Given the description of an element on the screen output the (x, y) to click on. 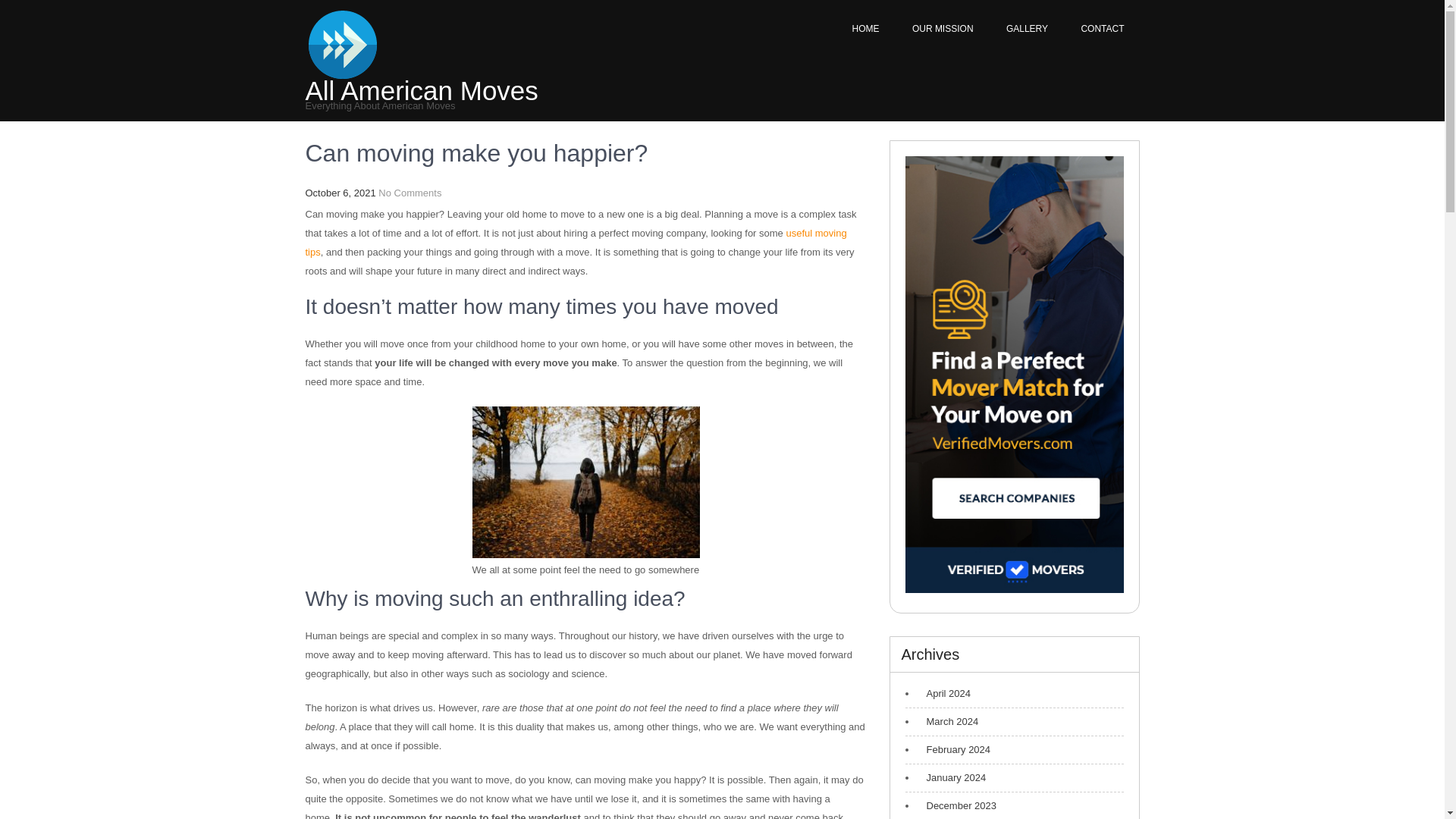
CONTACT (1101, 28)
OUR MISSION (942, 28)
December 2023 (957, 806)
GALLERY (1026, 28)
HOME (866, 28)
No Comments (409, 193)
January 2024 (952, 777)
March 2024 (948, 721)
useful moving tips (574, 242)
February 2024 (954, 749)
